Given the description of an element on the screen output the (x, y) to click on. 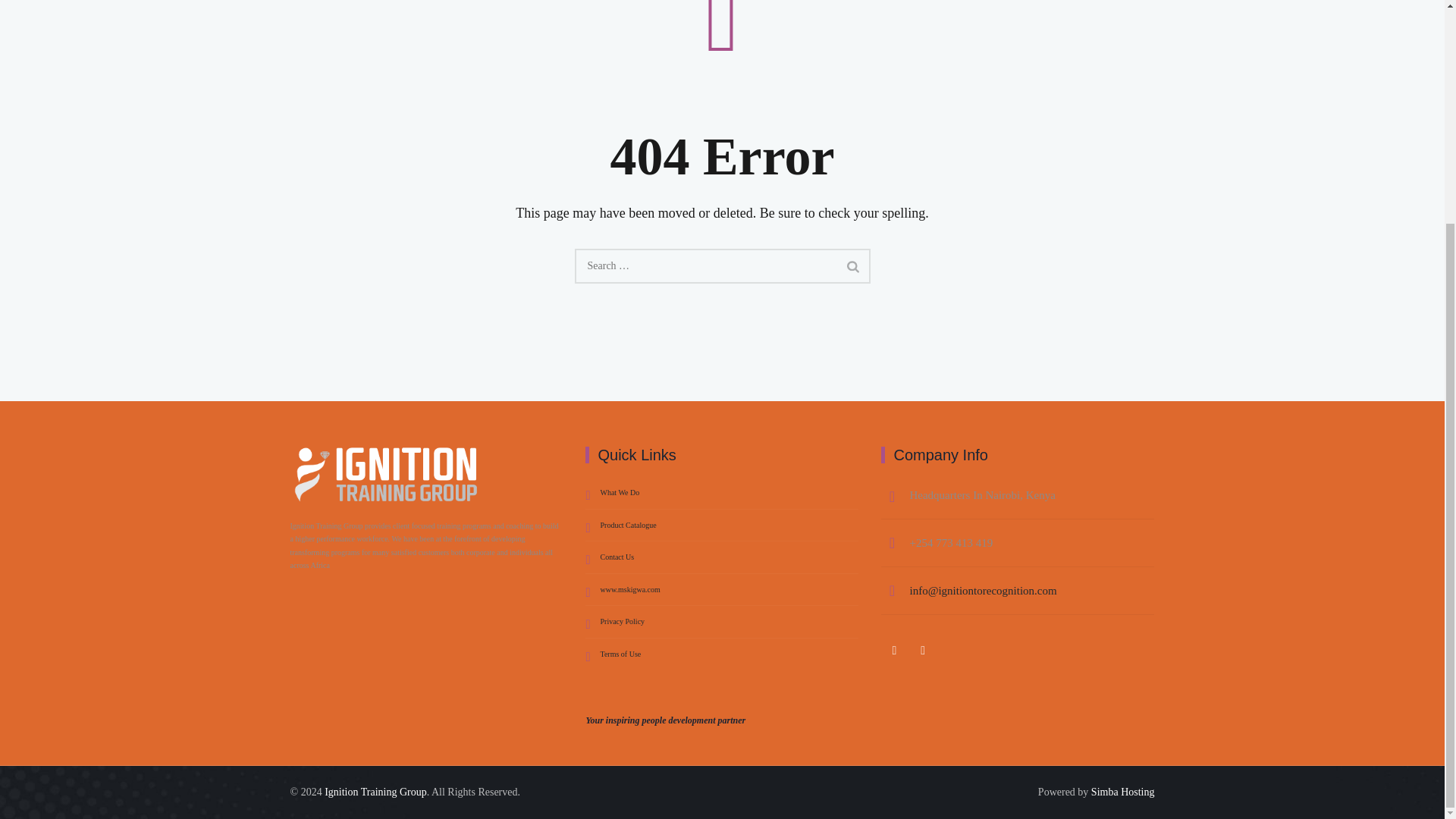
Search (852, 265)
Search (852, 265)
Search (852, 265)
Visit Simba Hosting (1122, 791)
